Given the description of an element on the screen output the (x, y) to click on. 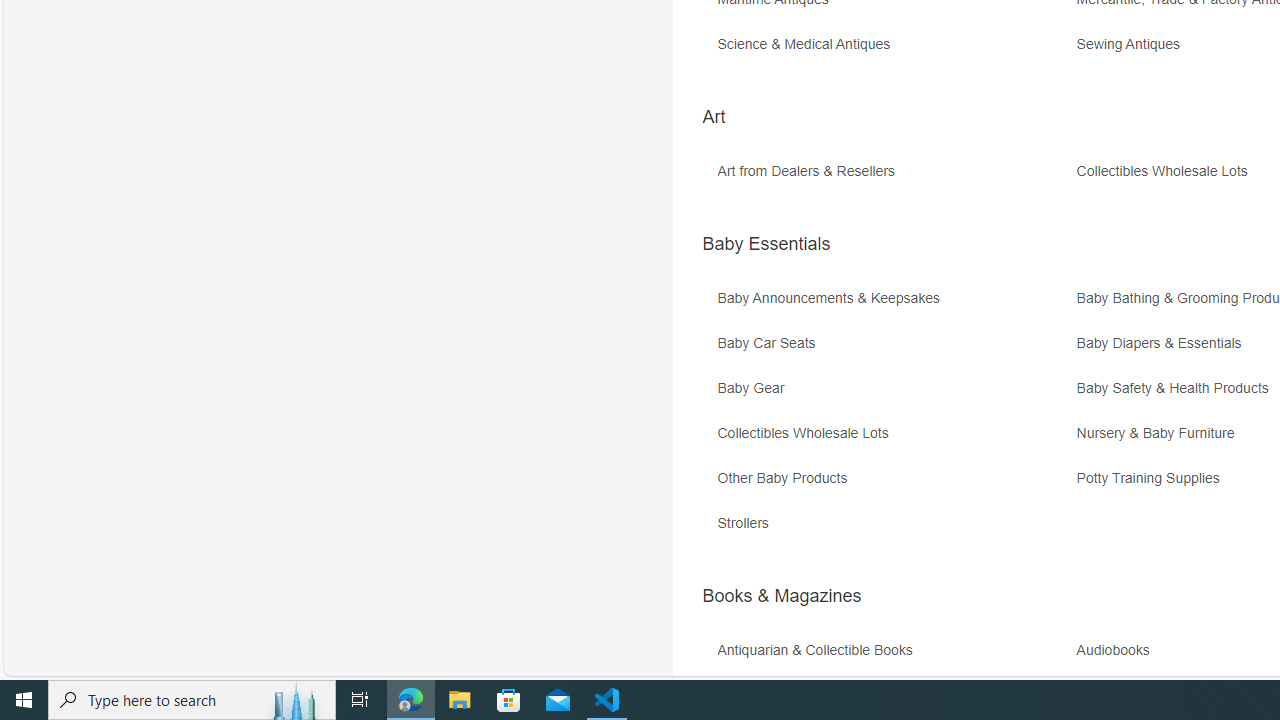
Books & Magazines (781, 596)
Art (713, 116)
Nursery & Baby Furniture (1160, 433)
Antiquarian & Collectible Books (819, 650)
Baby Car Seats (894, 349)
Audiobooks (1117, 650)
Baby Essentials (765, 244)
Antiquarian & Collectible Books (894, 657)
Baby Safety & Health Products (1177, 388)
Science & Medical Antiques (808, 43)
Baby Announcements & Keepsakes (833, 298)
Potty Training Supplies (1153, 478)
